Given the description of an element on the screen output the (x, y) to click on. 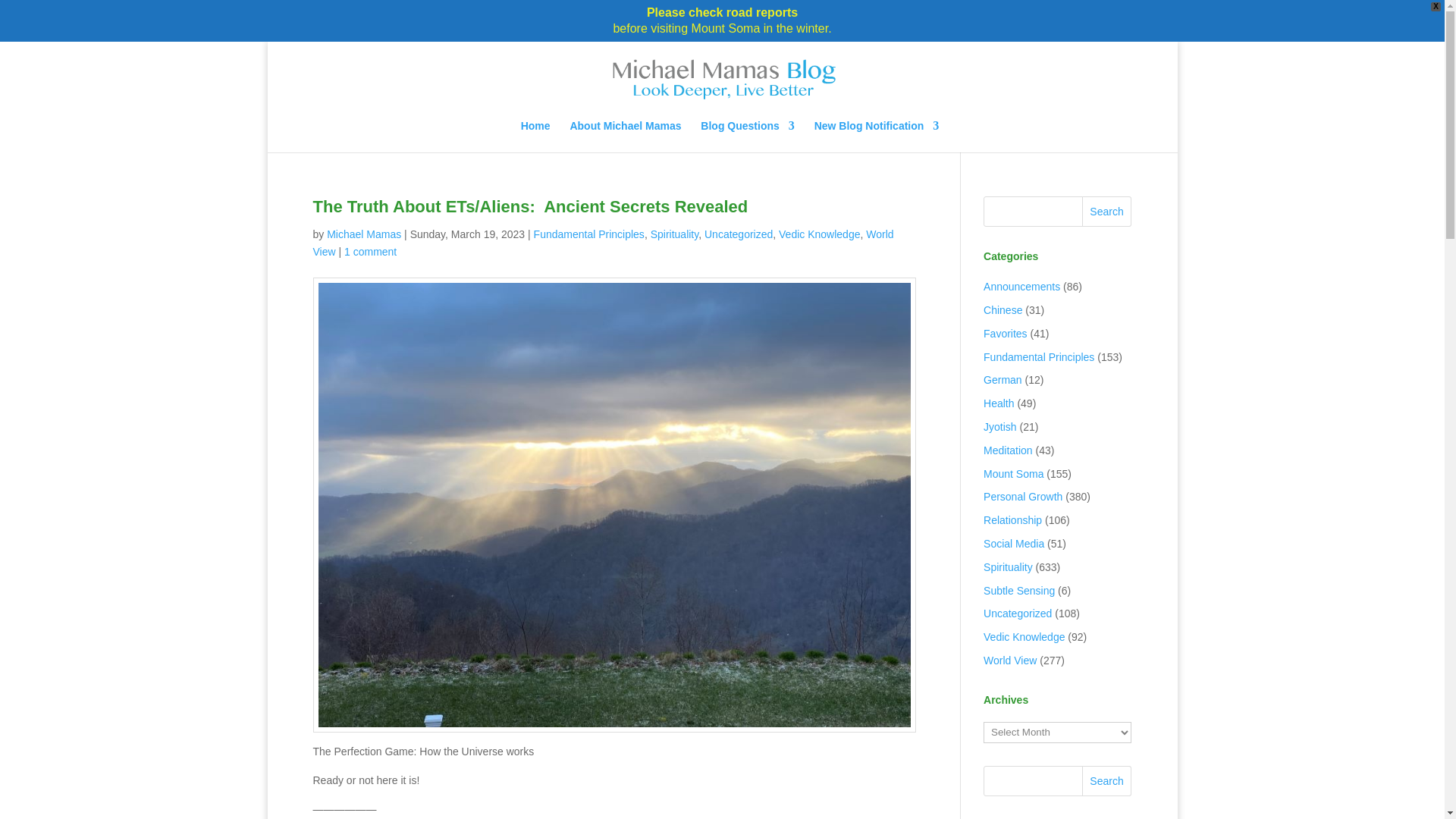
Posts by Michael Mamas (363, 234)
Fundamental Principles (589, 234)
Home (535, 136)
Search (1106, 211)
1 comment (369, 251)
Search (1106, 211)
Chinese (1003, 309)
Blog Questions (746, 136)
Announcements (1021, 286)
Uncategorized (738, 234)
Search (1106, 780)
Vedic Knowledge (819, 234)
Spirituality (674, 234)
Michael Mamas (363, 234)
About Michael Mamas (625, 136)
